Given the description of an element on the screen output the (x, y) to click on. 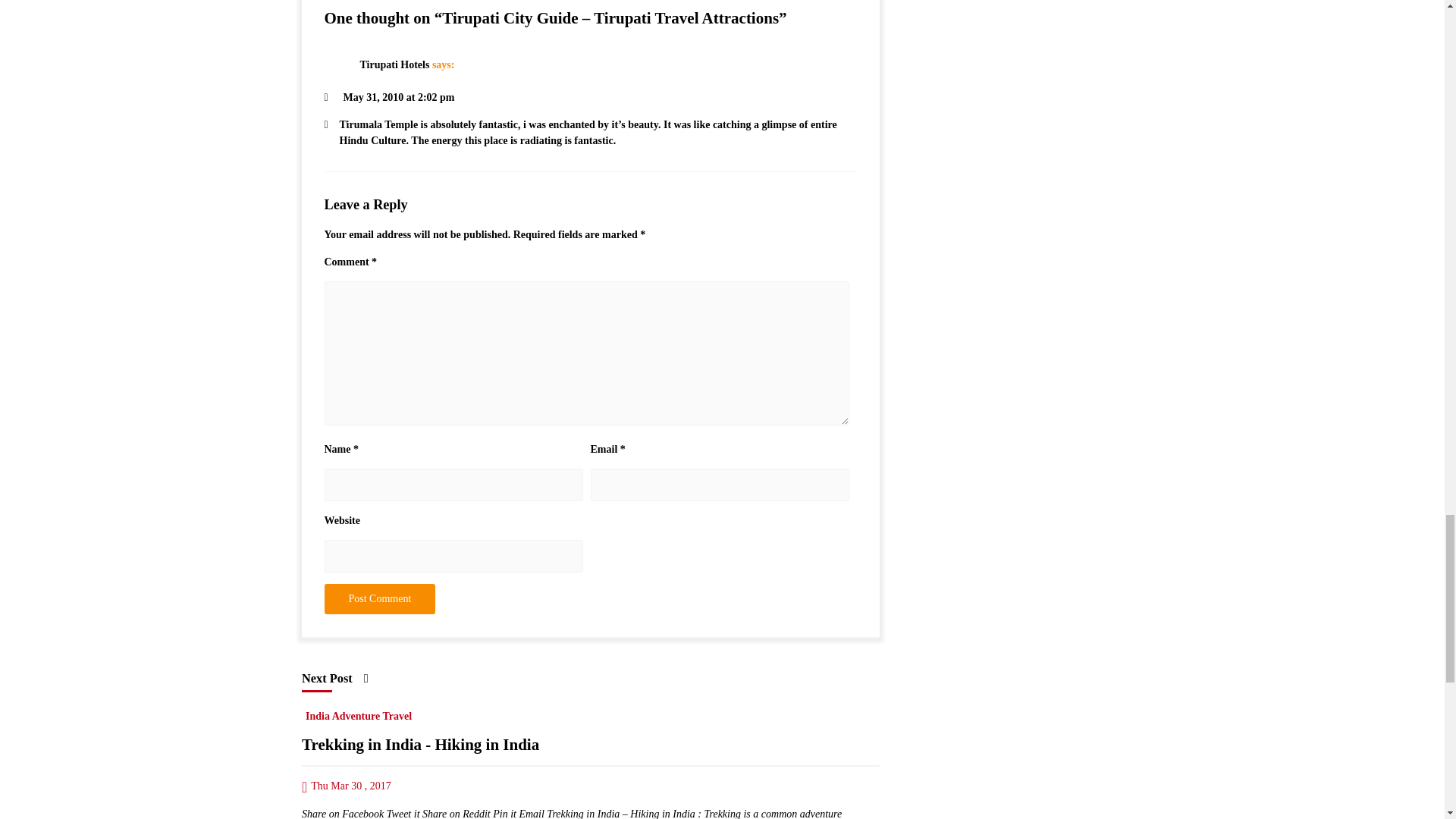
Post Comment (379, 598)
